Given the description of an element on the screen output the (x, y) to click on. 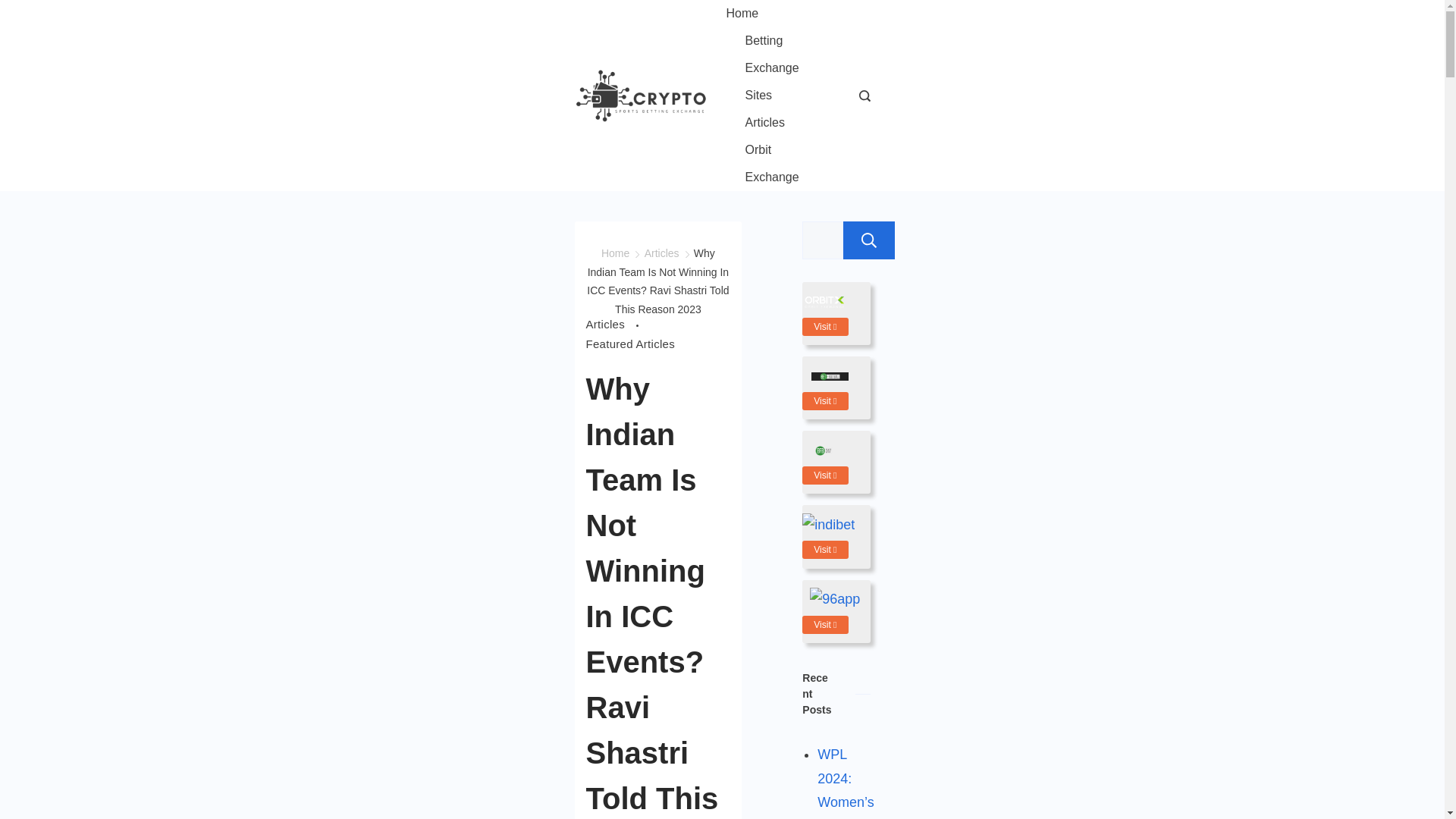
Home (614, 253)
Betting Exchange Sites (777, 67)
Orbit Exchange (777, 163)
Articles (662, 253)
Articles (764, 122)
Articles (615, 324)
Home (751, 13)
Featured Articles (630, 343)
